Given the description of an element on the screen output the (x, y) to click on. 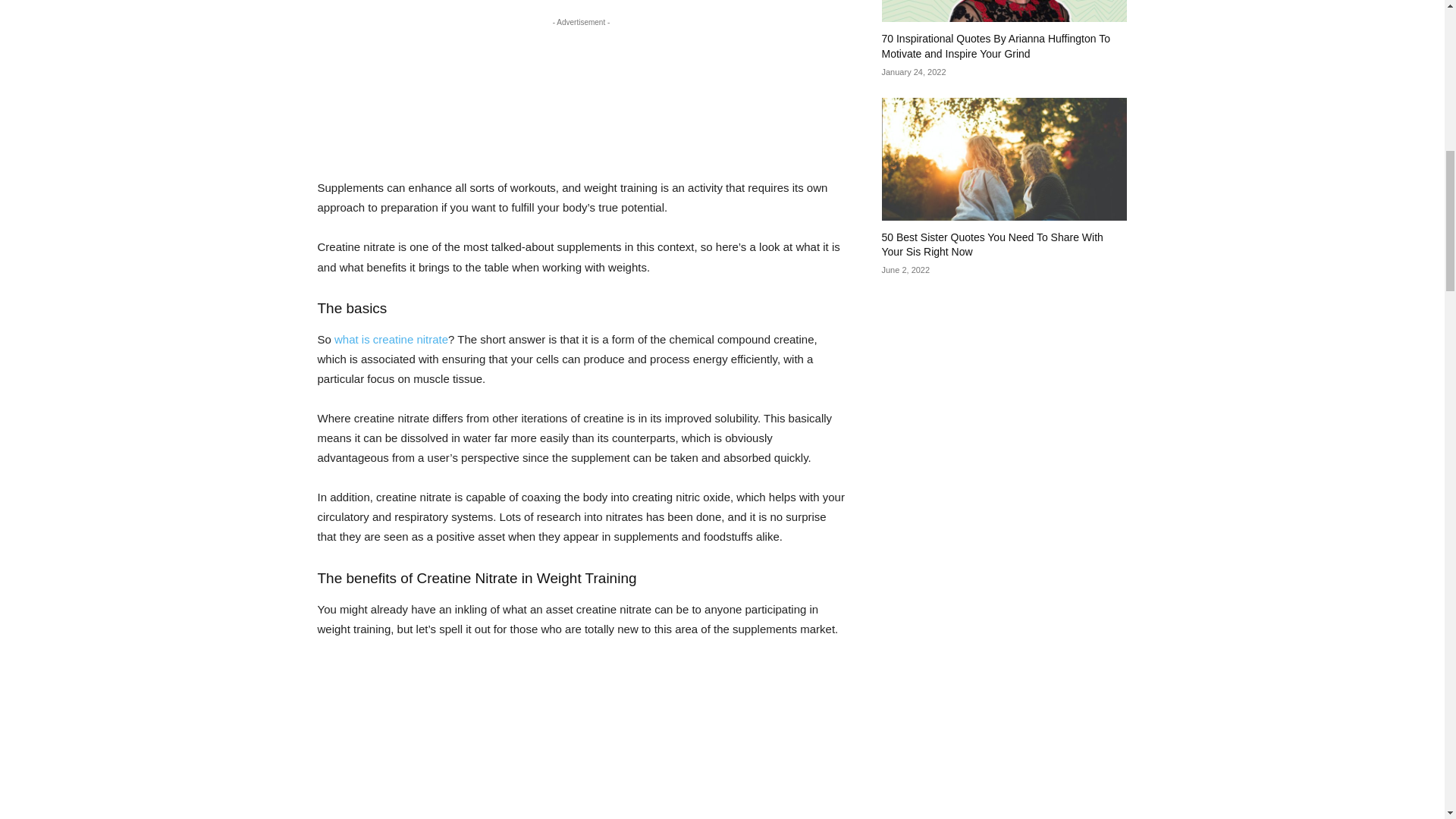
Advertisement (580, 739)
Advertisement (580, 96)
